Given the description of an element on the screen output the (x, y) to click on. 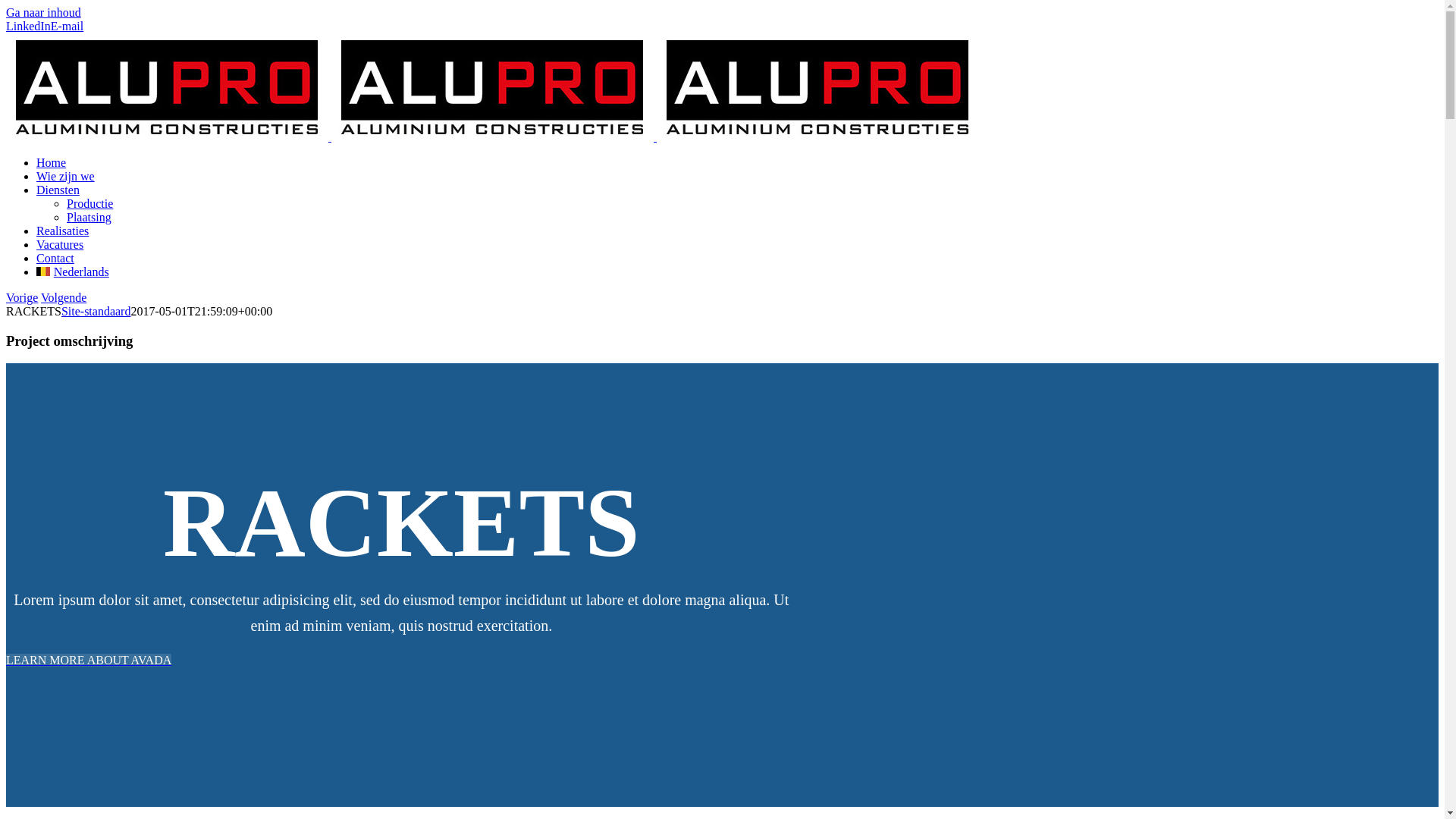
Productie Element type: text (89, 203)
Vorige Element type: text (21, 297)
Vacatures Element type: text (59, 244)
Contact Element type: text (55, 257)
Site-standaard Element type: text (96, 310)
LEARN MORE ABOUT AVADA Element type: text (88, 659)
Realisaties Element type: text (62, 230)
Nederlands Element type: text (72, 271)
Diensten Element type: text (57, 189)
Nederlands Element type: hover (43, 271)
E-mail Element type: text (67, 25)
Wie zijn we Element type: text (65, 175)
Plaatsing Element type: text (88, 216)
LinkedIn Element type: text (28, 25)
Ga naar inhoud Element type: text (43, 12)
Volgende Element type: text (63, 297)
Home Element type: text (50, 162)
